Given the description of an element on the screen output the (x, y) to click on. 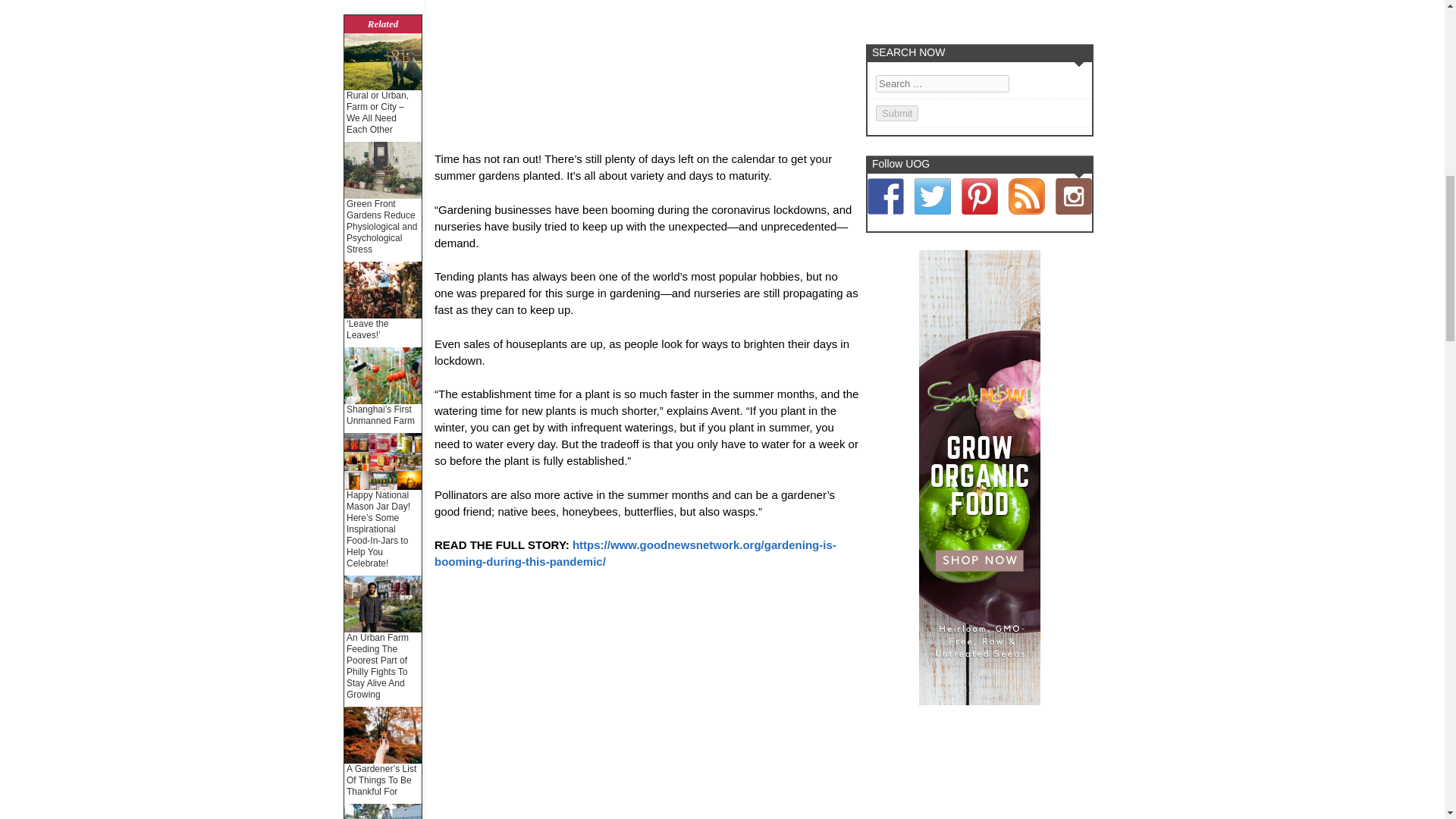
Submit (897, 113)
